Given the description of an element on the screen output the (x, y) to click on. 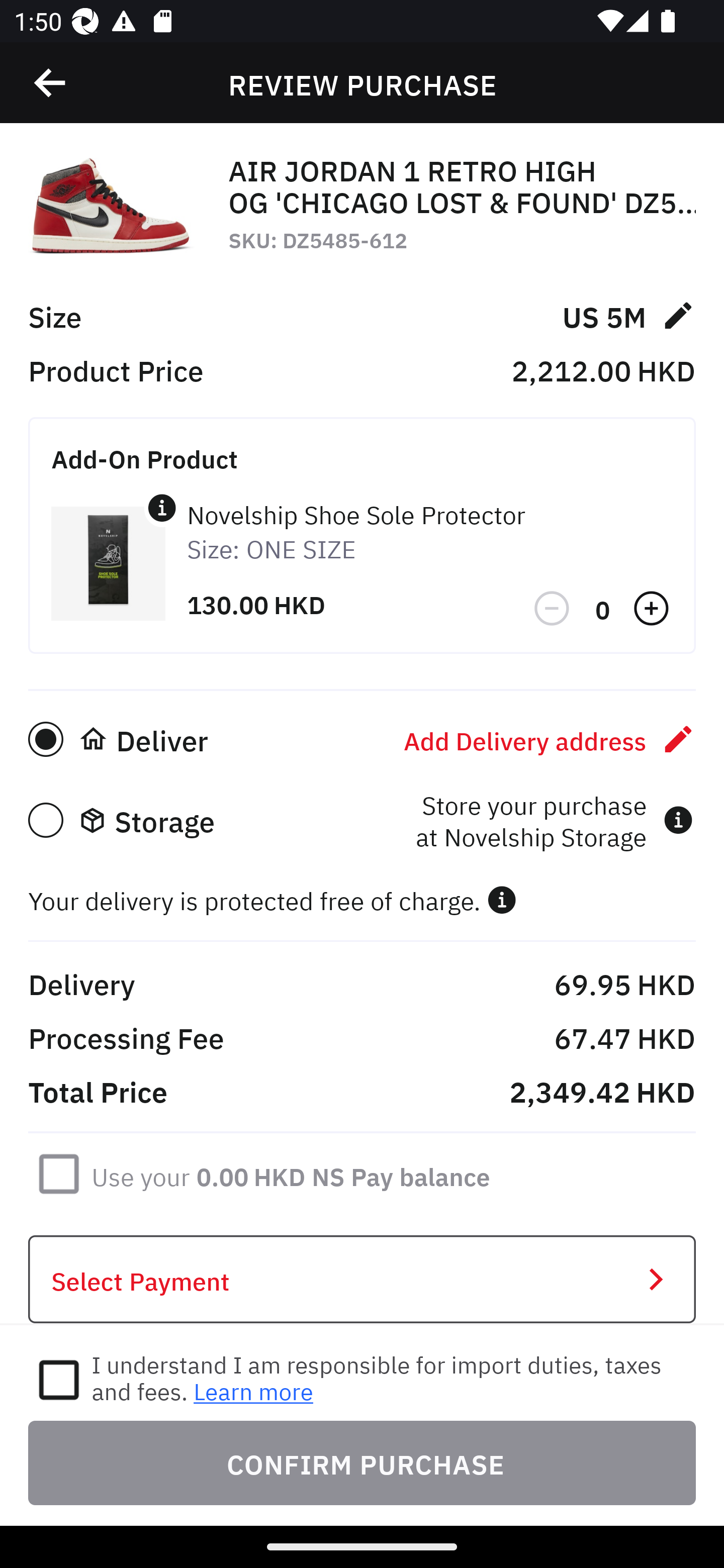
 (50, 83)
US 5M 󰏫 (628, 314)
 (162, 507)
 (553, 608)
 (652, 608)
󰚡 Deliver Add Delivery address 󰏫 (361, 739)
Add Delivery address 󰏫 (549, 739)
Store your purchase
at Novelship Storage  (554, 819)
 (501, 899)
Use your 0.00 HKD NS Pay balance (290, 1173)
Select Payment  (361, 1279)
 CONFIRM PURCHASE (361, 1462)
